Given the description of an element on the screen output the (x, y) to click on. 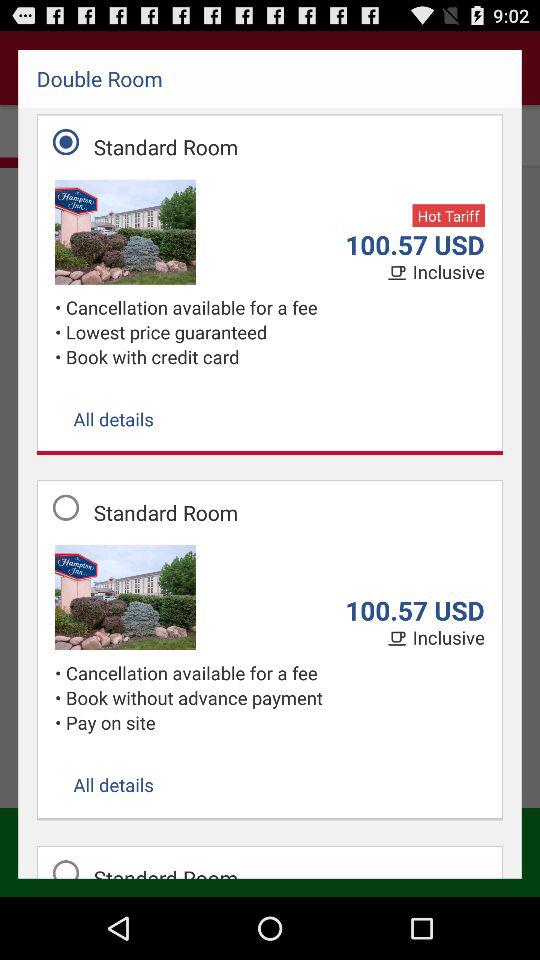
launch the item below double room (448, 215)
